Given the description of an element on the screen output the (x, y) to click on. 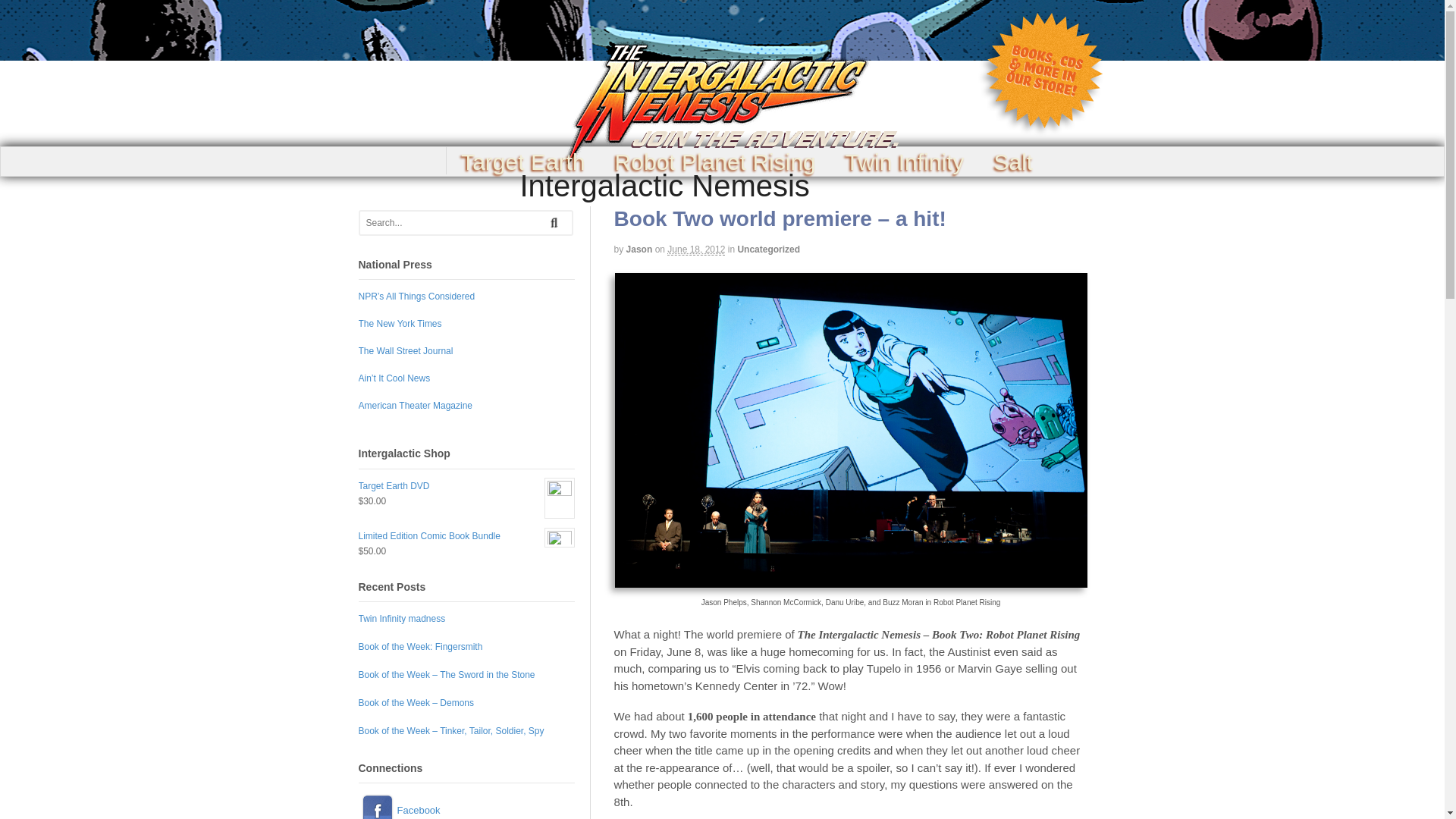
Twin Infinity (903, 161)
Robot Planet Rising (714, 161)
The New York Times (399, 323)
The Wall Street Journal (405, 350)
Limited Edition Comic Book Bundle (465, 535)
Target Earth (522, 161)
View all items in Uncategorized (767, 249)
Intergalactic Nemesis (664, 185)
Jason (639, 249)
Posts by Jason (639, 249)
2012-06-18T17:40:58-0500 (695, 249)
Salt (1013, 161)
Target Earth DVD (465, 485)
Search (555, 221)
Search... (455, 222)
